Given the description of an element on the screen output the (x, y) to click on. 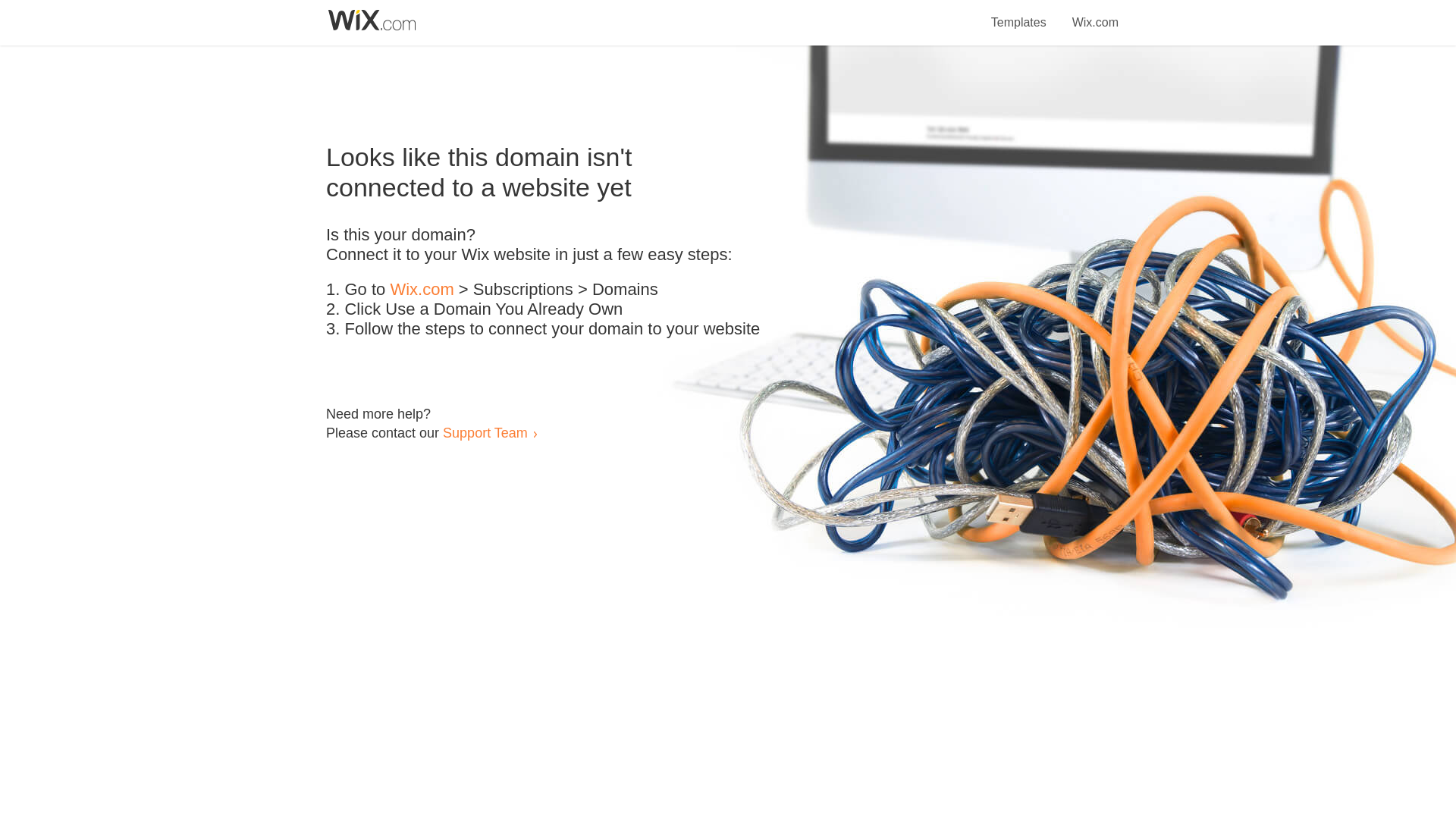
Wix.com (1095, 14)
Wix.com (421, 289)
Templates (1018, 14)
Support Team (484, 432)
